Given the description of an element on the screen output the (x, y) to click on. 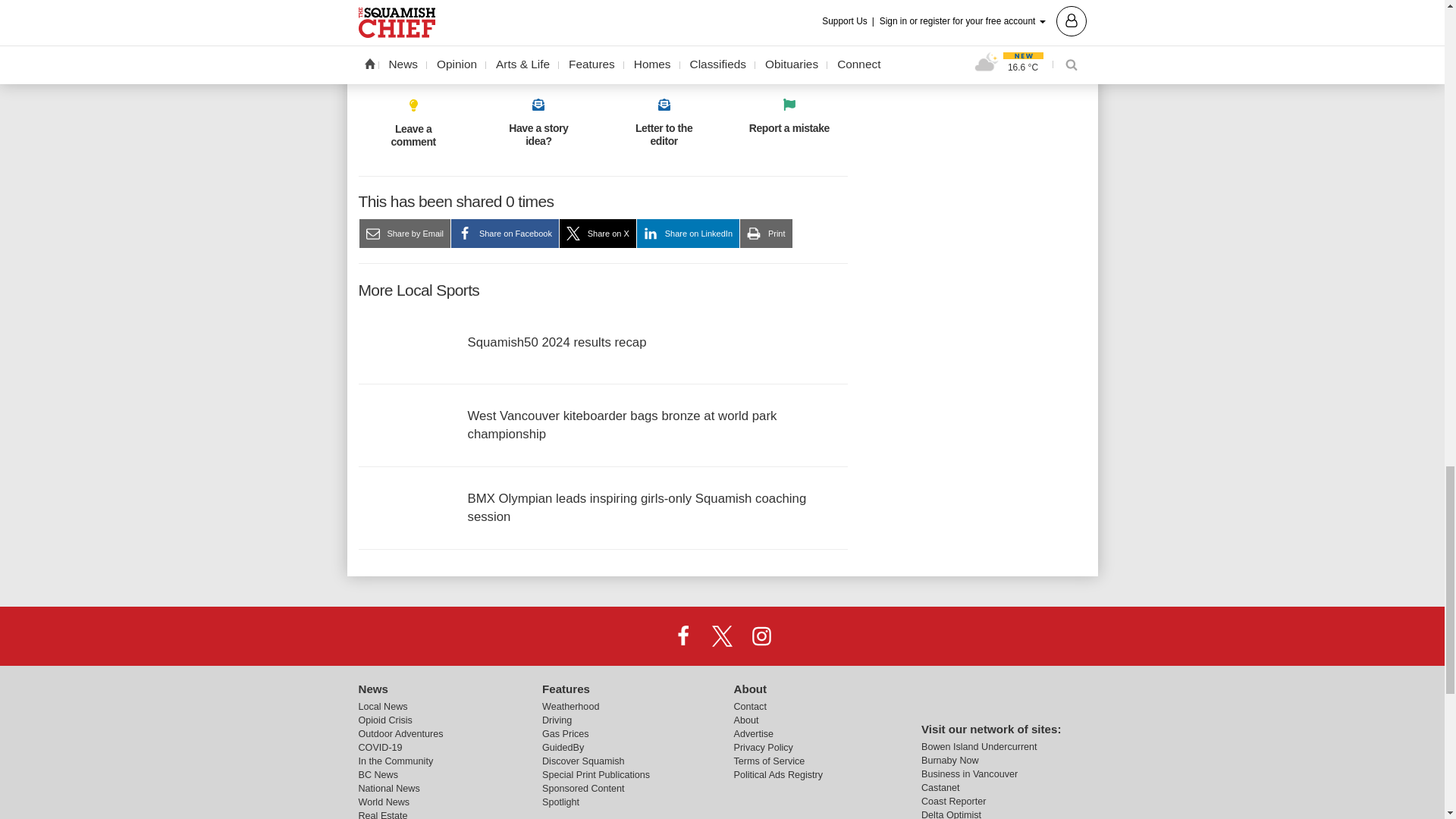
Instagram (760, 634)
X (721, 634)
Facebook (683, 634)
